Given the description of an element on the screen output the (x, y) to click on. 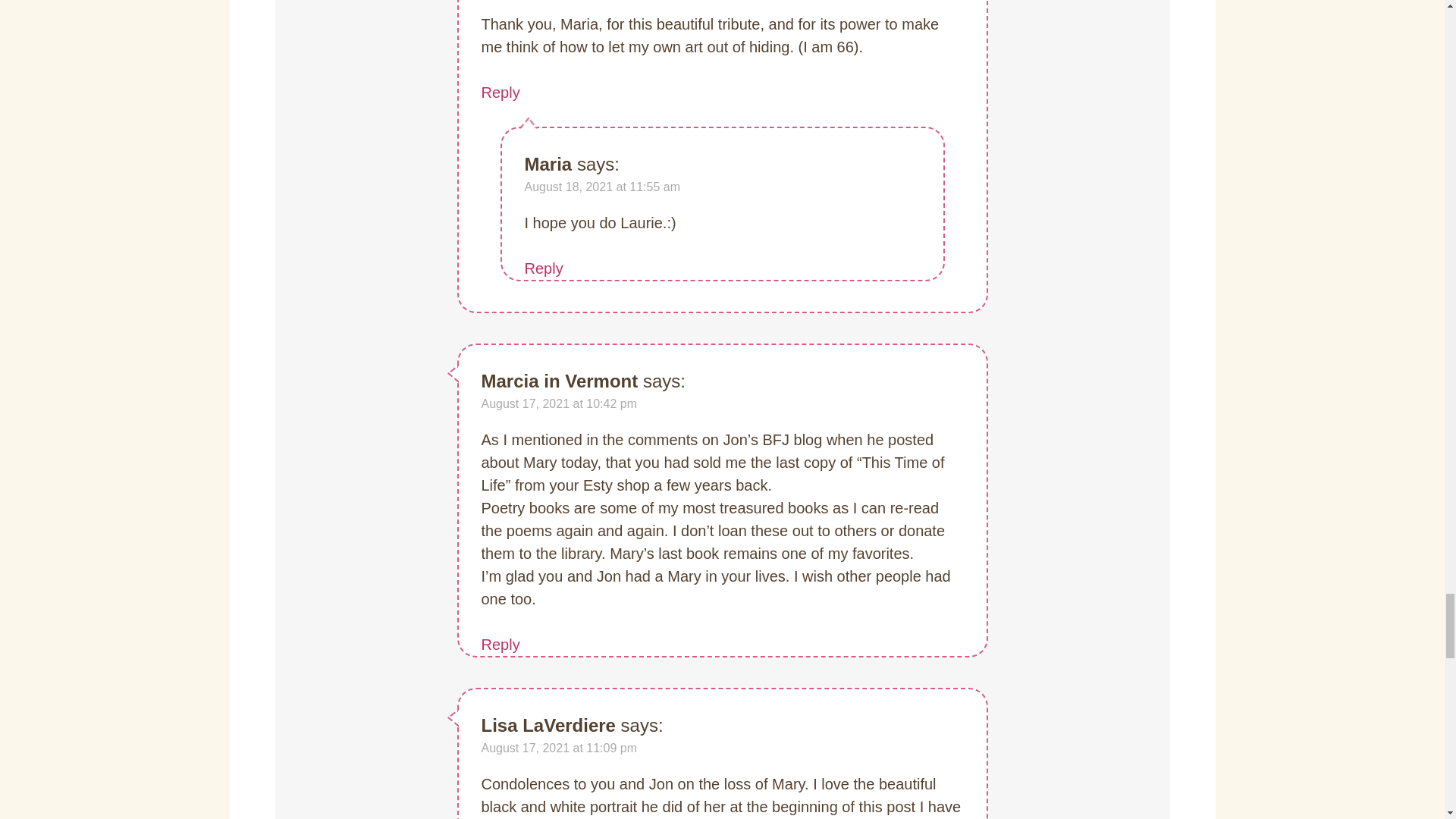
Reply (543, 268)
Maria (548, 163)
August 17, 2021 at 10:42 pm (558, 403)
August 17, 2021 at 11:09 pm (558, 748)
Lisa LaVerdiere (547, 724)
August 18, 2021 at 11:55 am (601, 186)
Reply (499, 92)
Reply (499, 644)
